Given the description of an element on the screen output the (x, y) to click on. 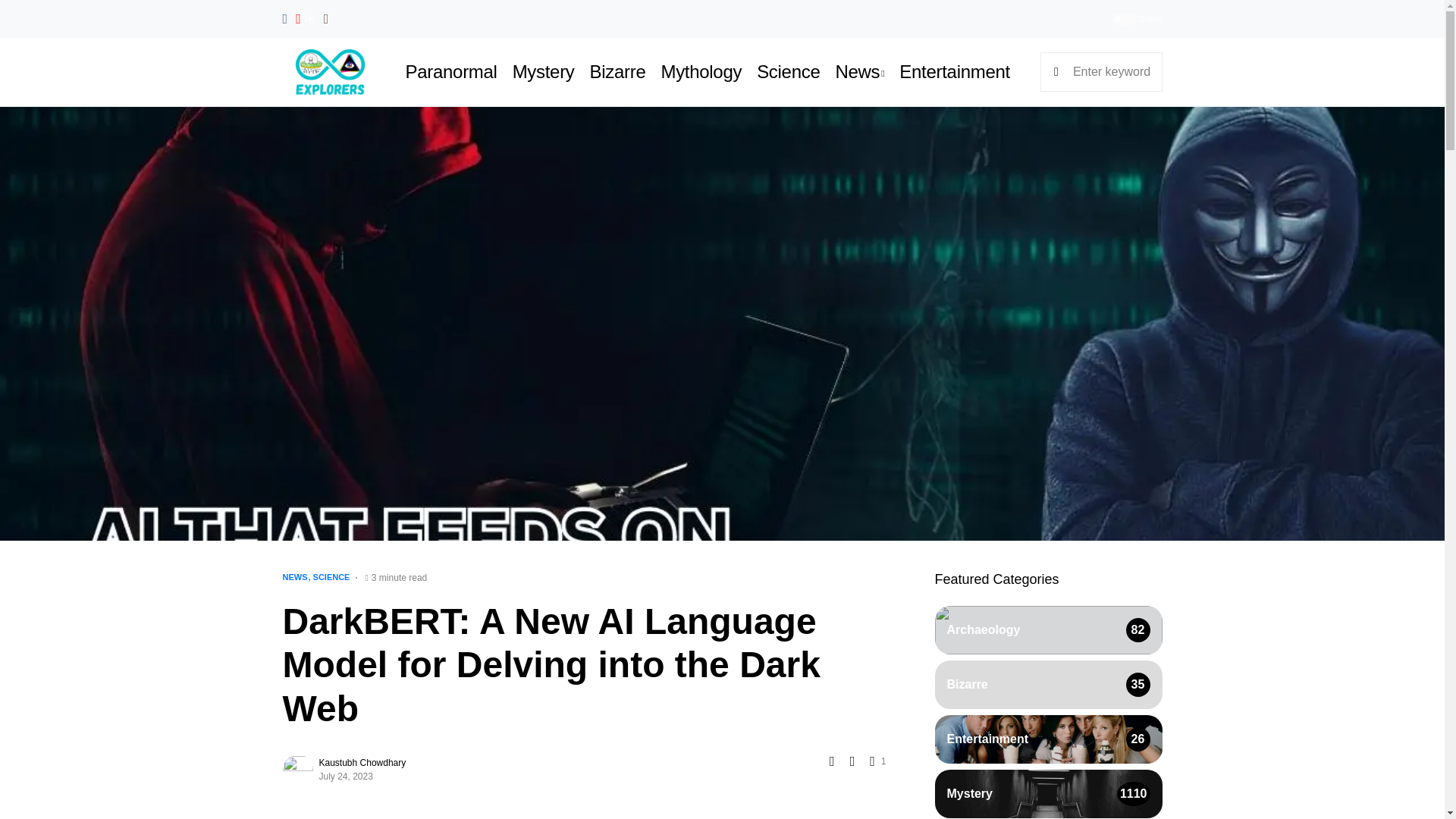
Entertainment (954, 71)
Mythology (701, 71)
Paranormal (451, 71)
Science (788, 71)
1K (304, 18)
Mystery (543, 71)
